Given the description of an element on the screen output the (x, y) to click on. 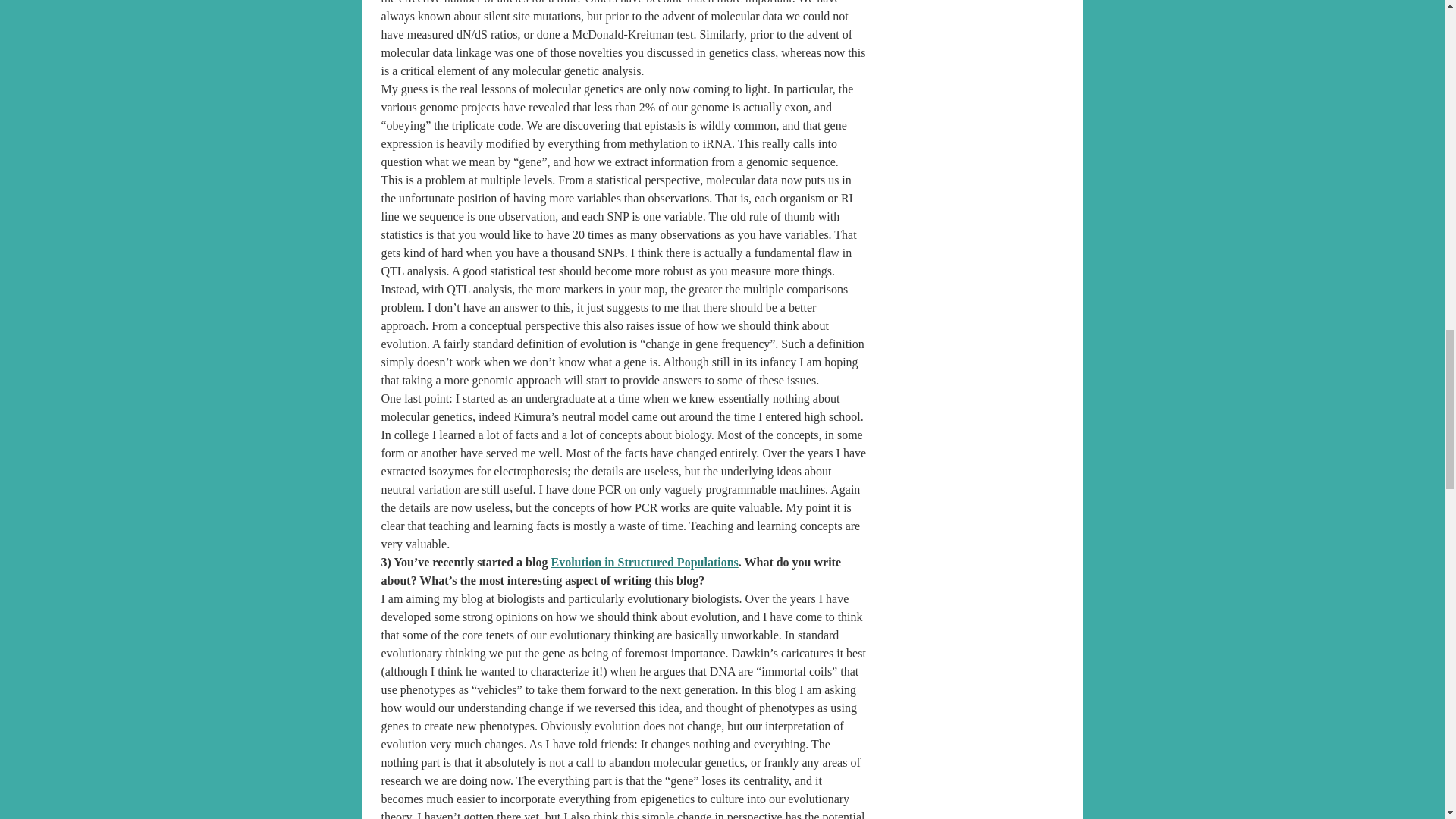
Evolution in Structured Populations (644, 562)
